Given the description of an element on the screen output the (x, y) to click on. 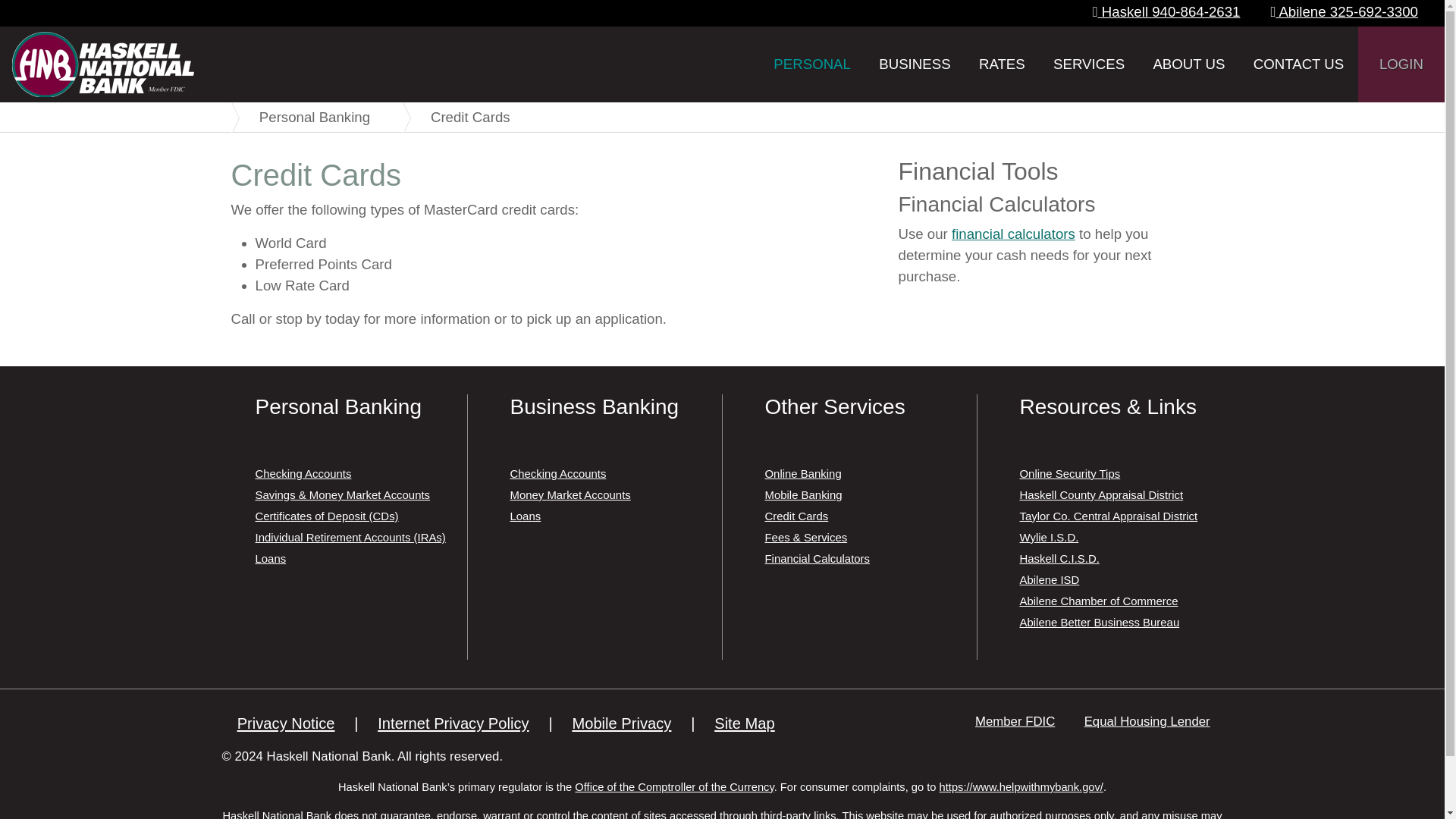
CONTACT US (1298, 64)
RATES (1001, 64)
SERVICES (1088, 64)
Haskell National Bank (102, 64)
BUSINESS (914, 64)
Checking Accounts (302, 472)
Haskell 940-864-2631 (1166, 11)
PERSONAL (812, 64)
financial calculators (1013, 233)
ABOUT US (1188, 64)
Abilene 325-692-3300 (1343, 11)
